Given the description of an element on the screen output the (x, y) to click on. 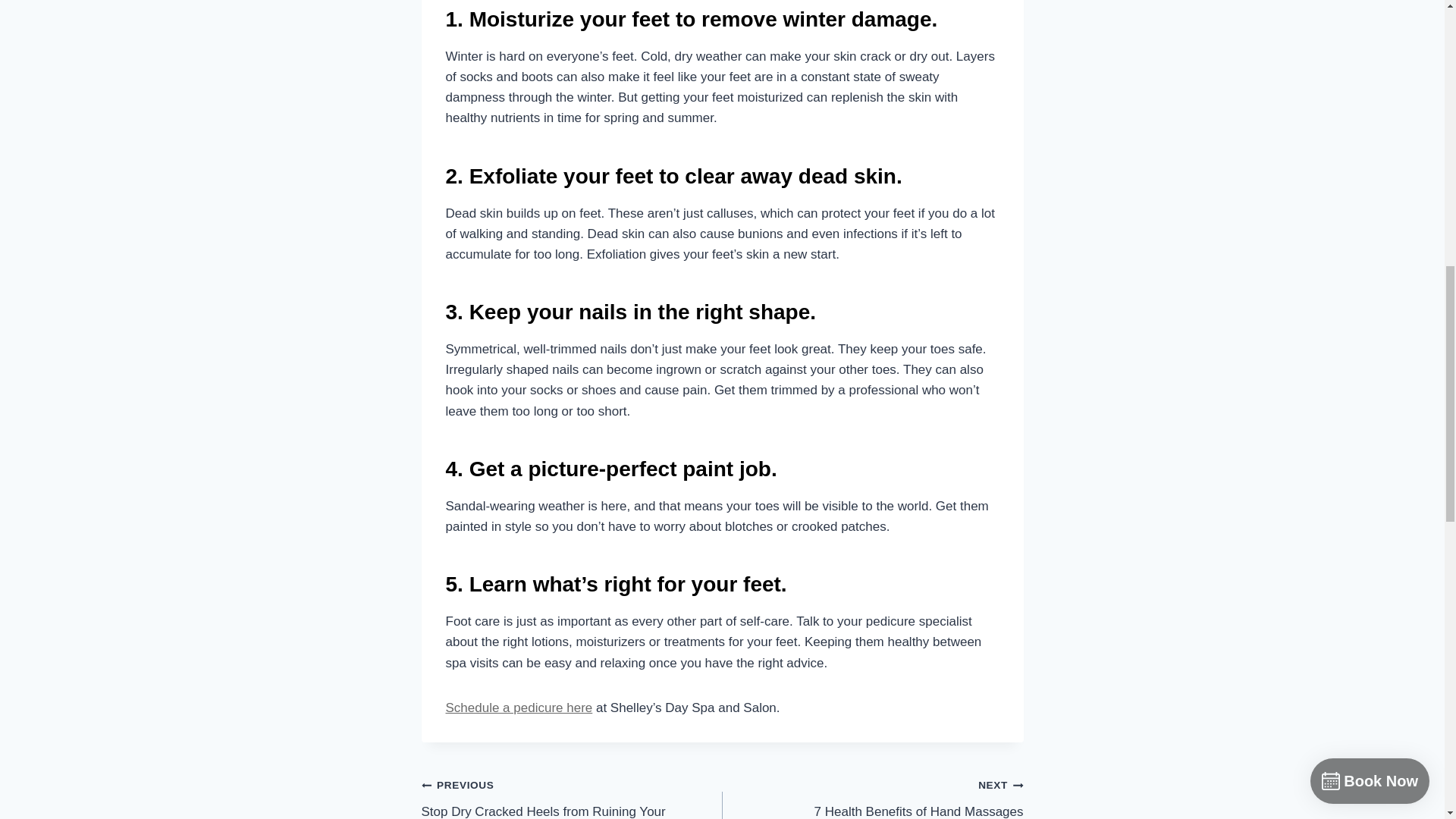
Schedule a pedicure here (518, 707)
